Given the description of an element on the screen output the (x, y) to click on. 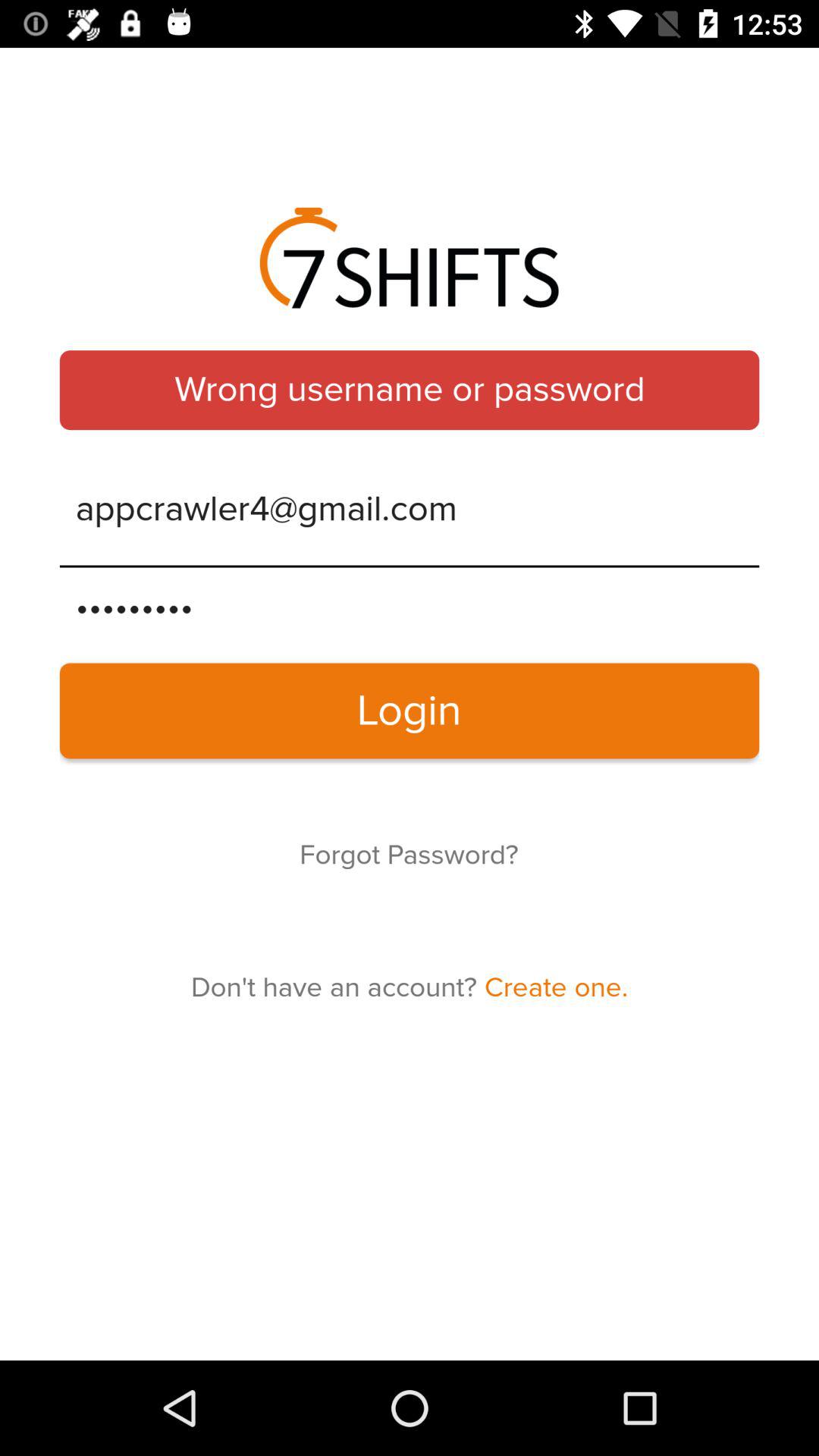
jump until the crowd3116 (409, 607)
